Given the description of an element on the screen output the (x, y) to click on. 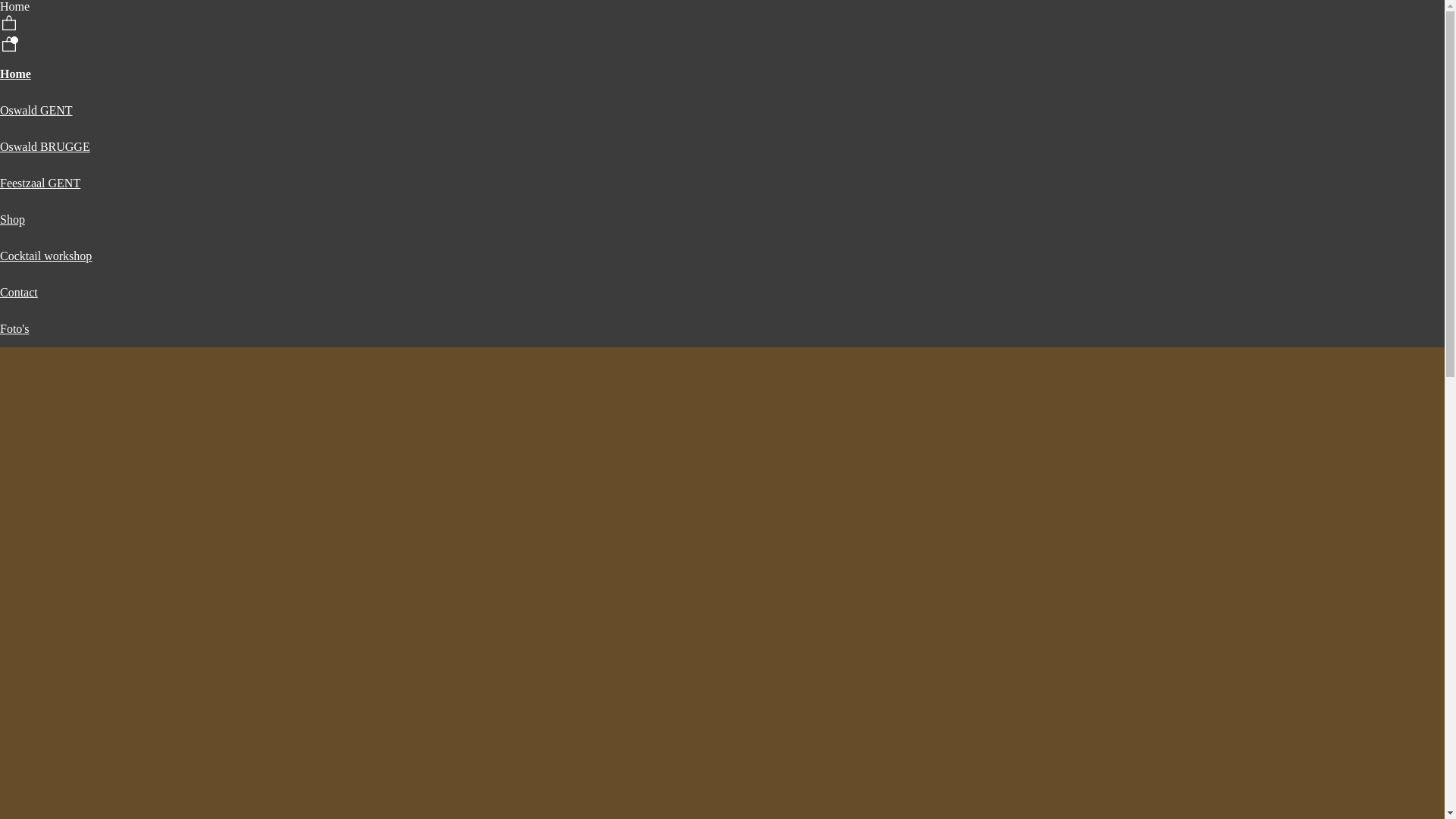
Feestzaal GENT Element type: text (40, 182)
Shop Element type: text (12, 219)
Foto's Element type: text (14, 328)
Home Element type: text (15, 73)
Cocktail workshop Element type: text (45, 255)
Contact Element type: text (18, 291)
Oswald BRUGGE Element type: text (45, 146)
Oswald GENT Element type: text (36, 109)
